Given the description of an element on the screen output the (x, y) to click on. 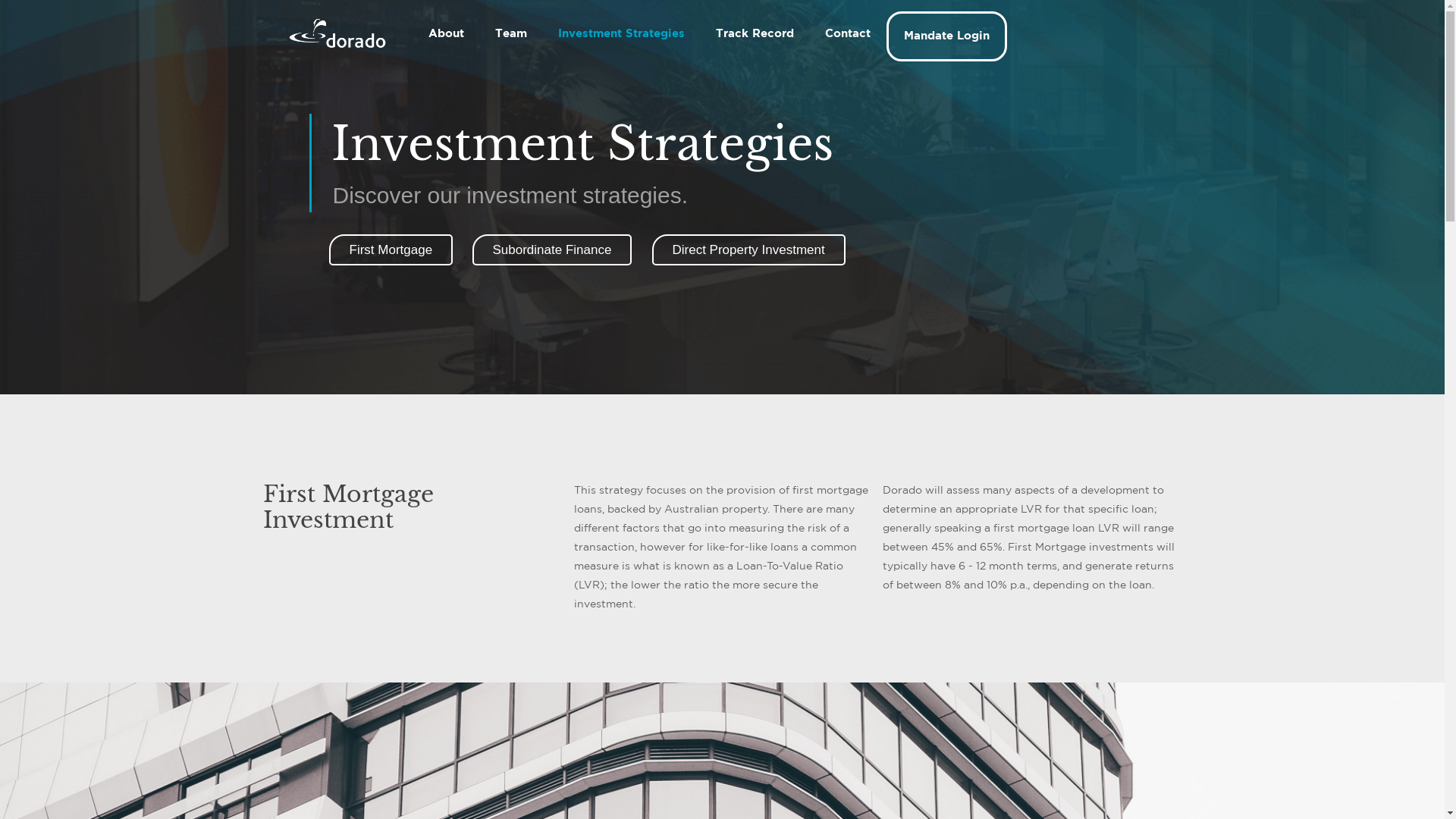
Dorado Property Element type: hover (337, 34)
Mandate Login Element type: text (946, 36)
About Element type: text (446, 34)
Team Element type: text (511, 34)
Contact Element type: text (847, 34)
Track Record Element type: text (754, 34)
Investment Strategies Element type: text (621, 34)
